Given the description of an element on the screen output the (x, y) to click on. 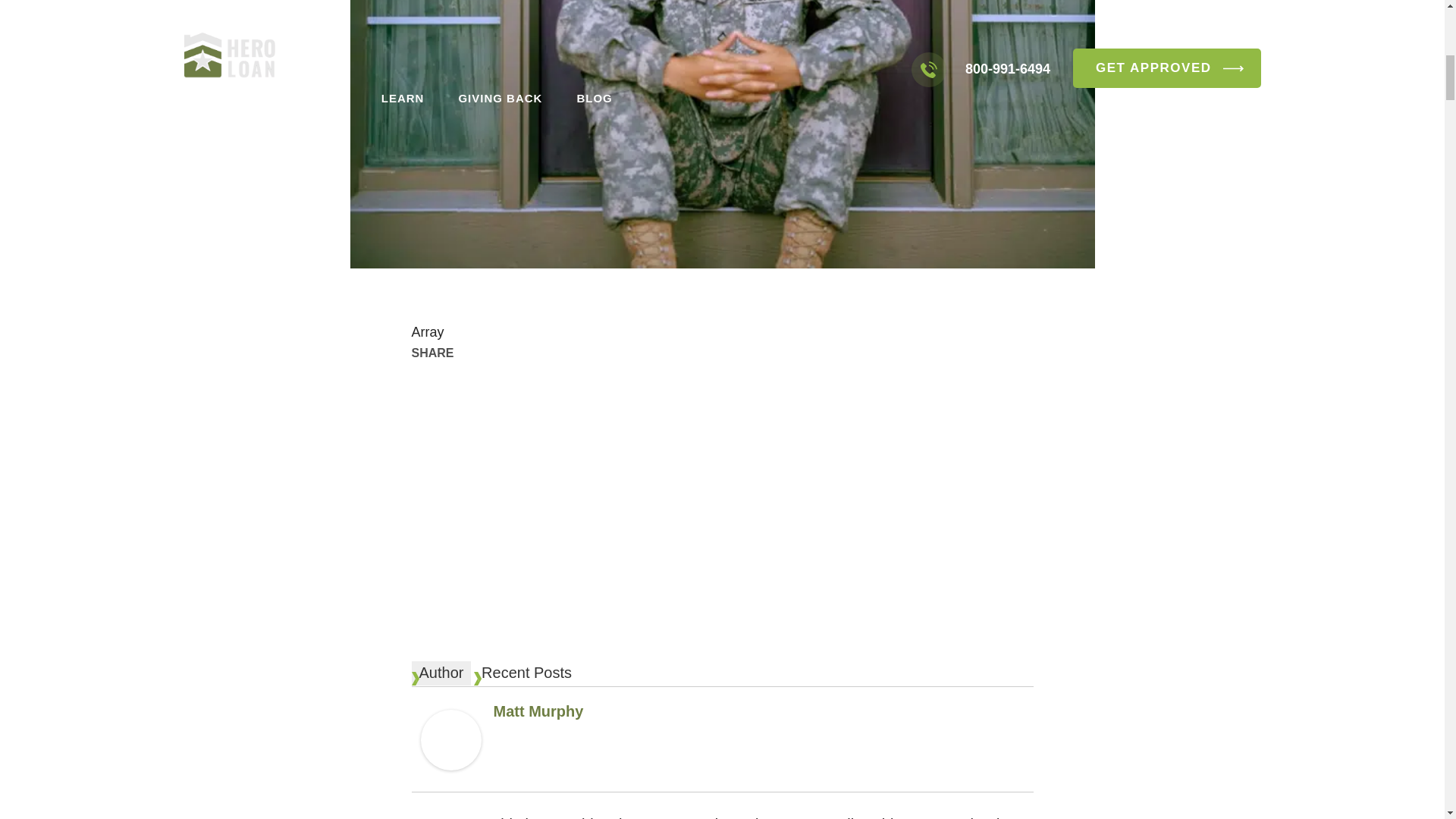
twitter (766, 420)
facebook (524, 420)
Recent Posts (526, 672)
linkedin (524, 534)
Matt Murphy (538, 710)
Matt Murphy (450, 743)
Author (440, 672)
